Given the description of an element on the screen output the (x, y) to click on. 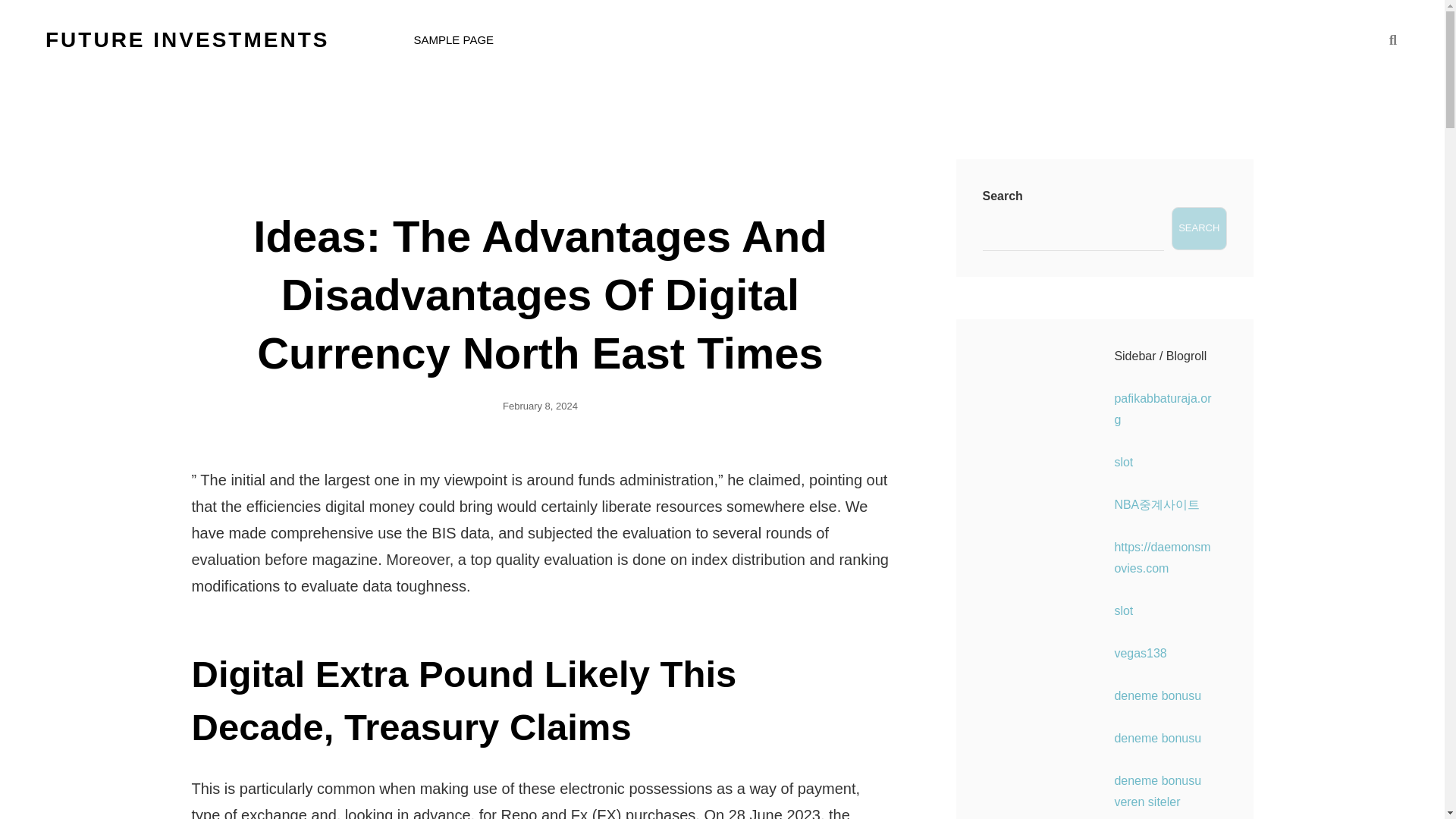
February 8, 2024 (540, 405)
vegas138 (1139, 653)
pafikabbaturaja.org (1162, 408)
slot (1122, 610)
SAMPLE PAGE (452, 40)
FUTURE INVESTMENTS (187, 39)
SEARCH (1198, 228)
deneme bonusu (1157, 695)
slot (1122, 461)
SEARCH (1392, 39)
